Given the description of an element on the screen output the (x, y) to click on. 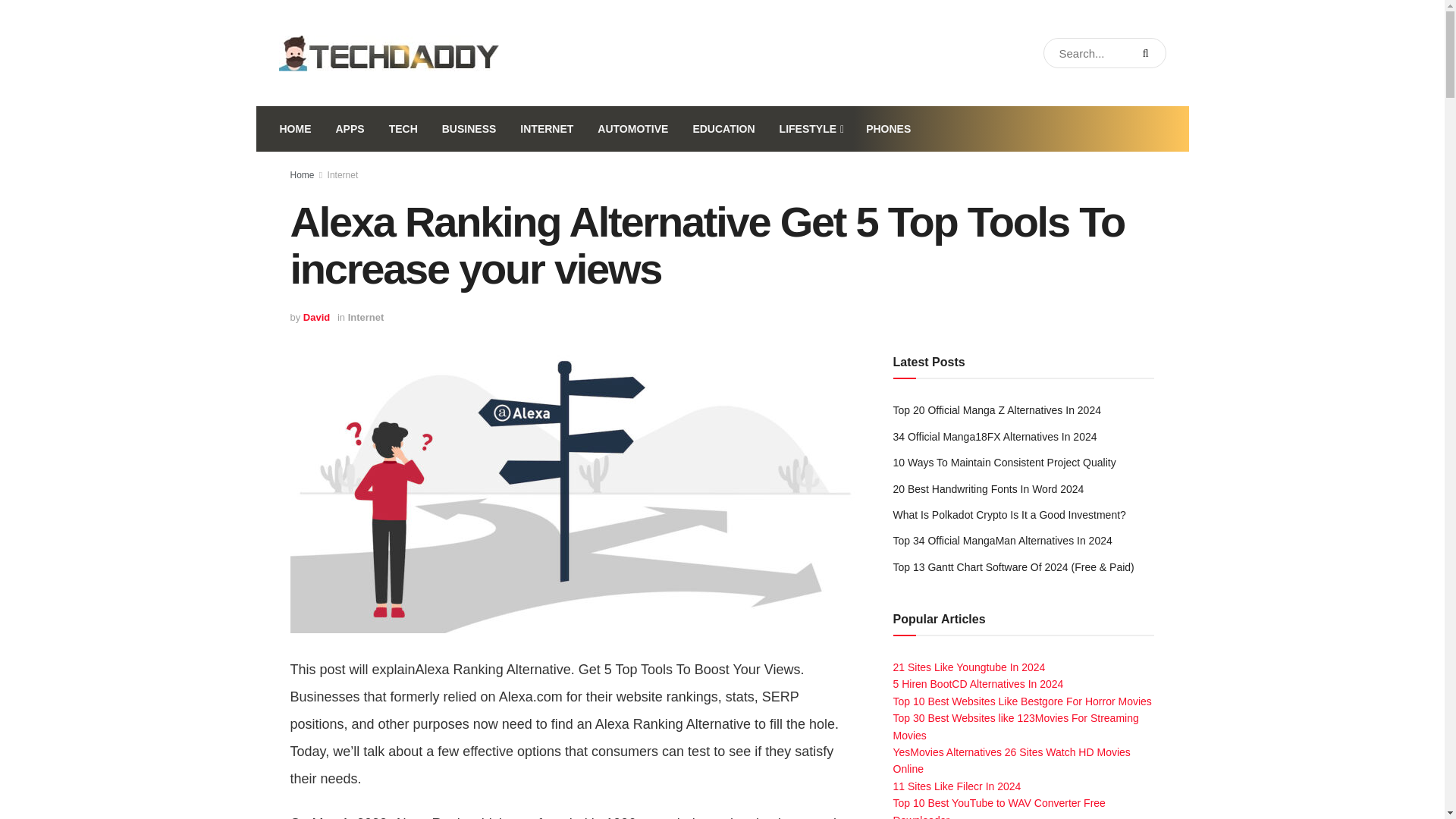
Home (301, 174)
INTERNET (546, 128)
LIFESTYLE (810, 128)
Internet (365, 317)
David (316, 317)
APPS (349, 128)
HOME (294, 128)
AUTOMOTIVE (632, 128)
TECH (403, 128)
PHONES (888, 128)
EDUCATION (723, 128)
BUSINESS (468, 128)
Internet (342, 174)
